Given the description of an element on the screen output the (x, y) to click on. 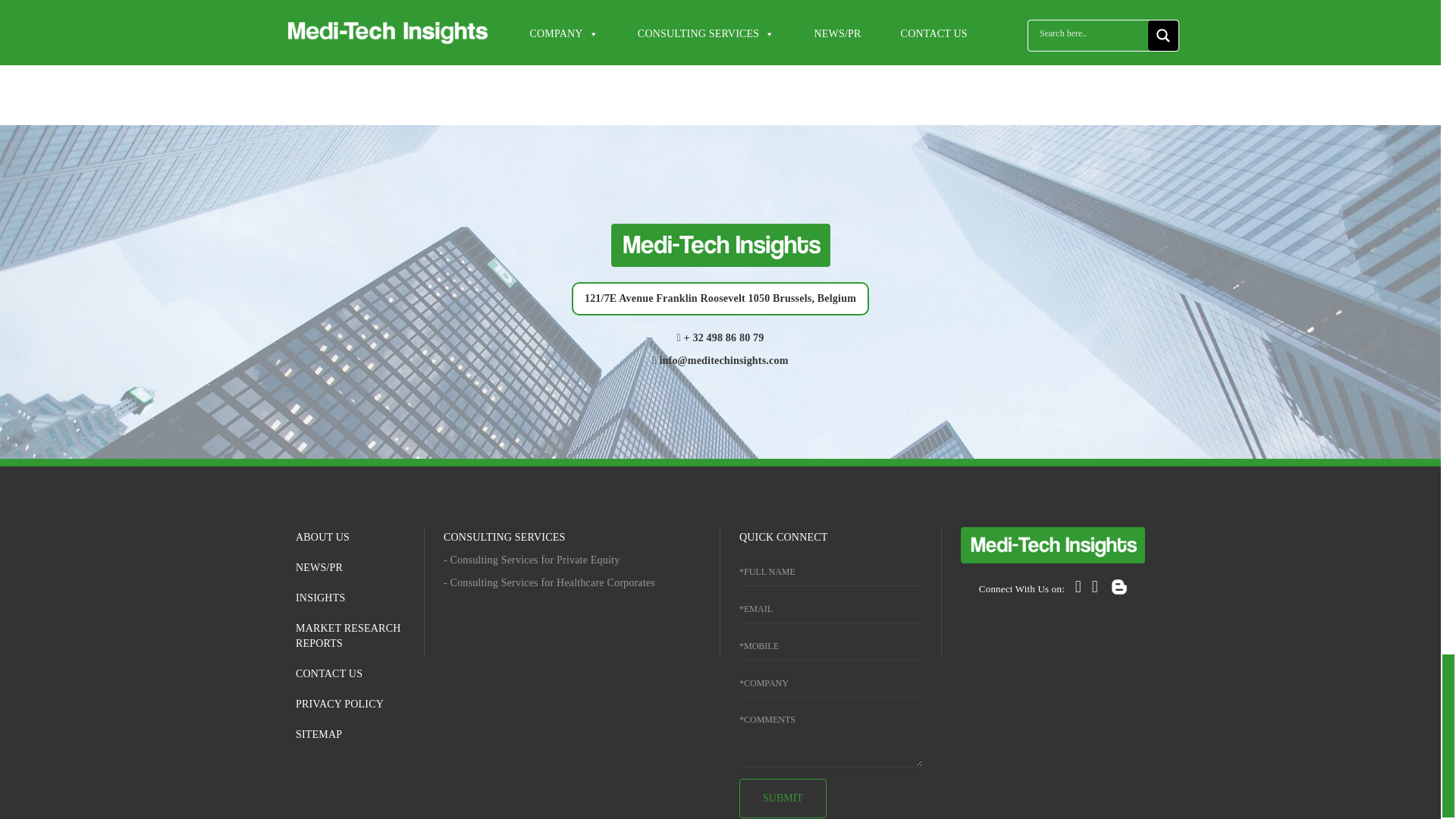
Submit (783, 798)
